Given the description of an element on the screen output the (x, y) to click on. 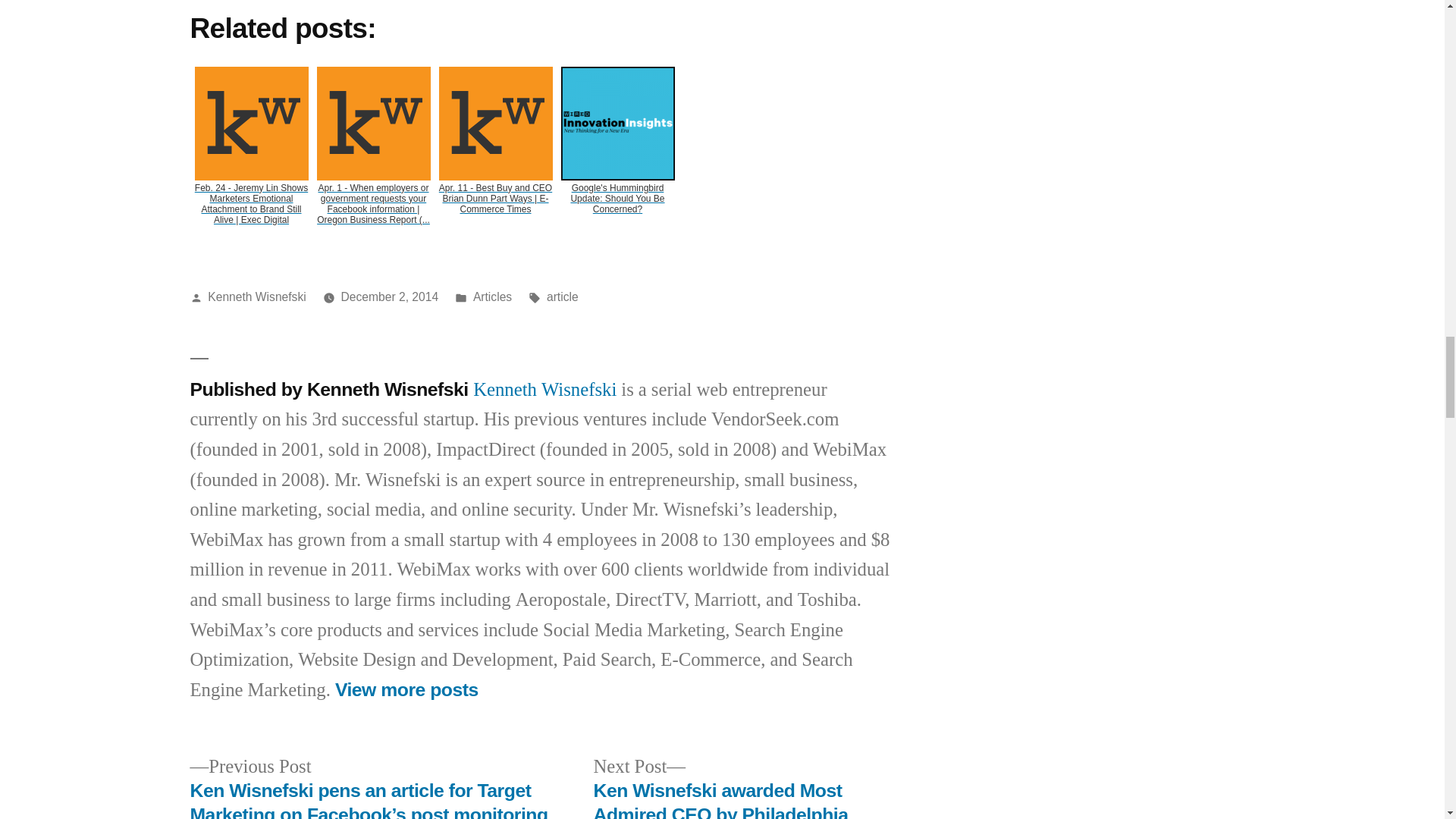
Kenneth Wisnefski (256, 296)
Articles (492, 296)
Kenneth Wisnefski (544, 390)
article (562, 296)
View more posts (406, 689)
December 2, 2014 (389, 296)
Google's Hummingbird Update: Should You Be Concerned? (617, 151)
